Given the description of an element on the screen output the (x, y) to click on. 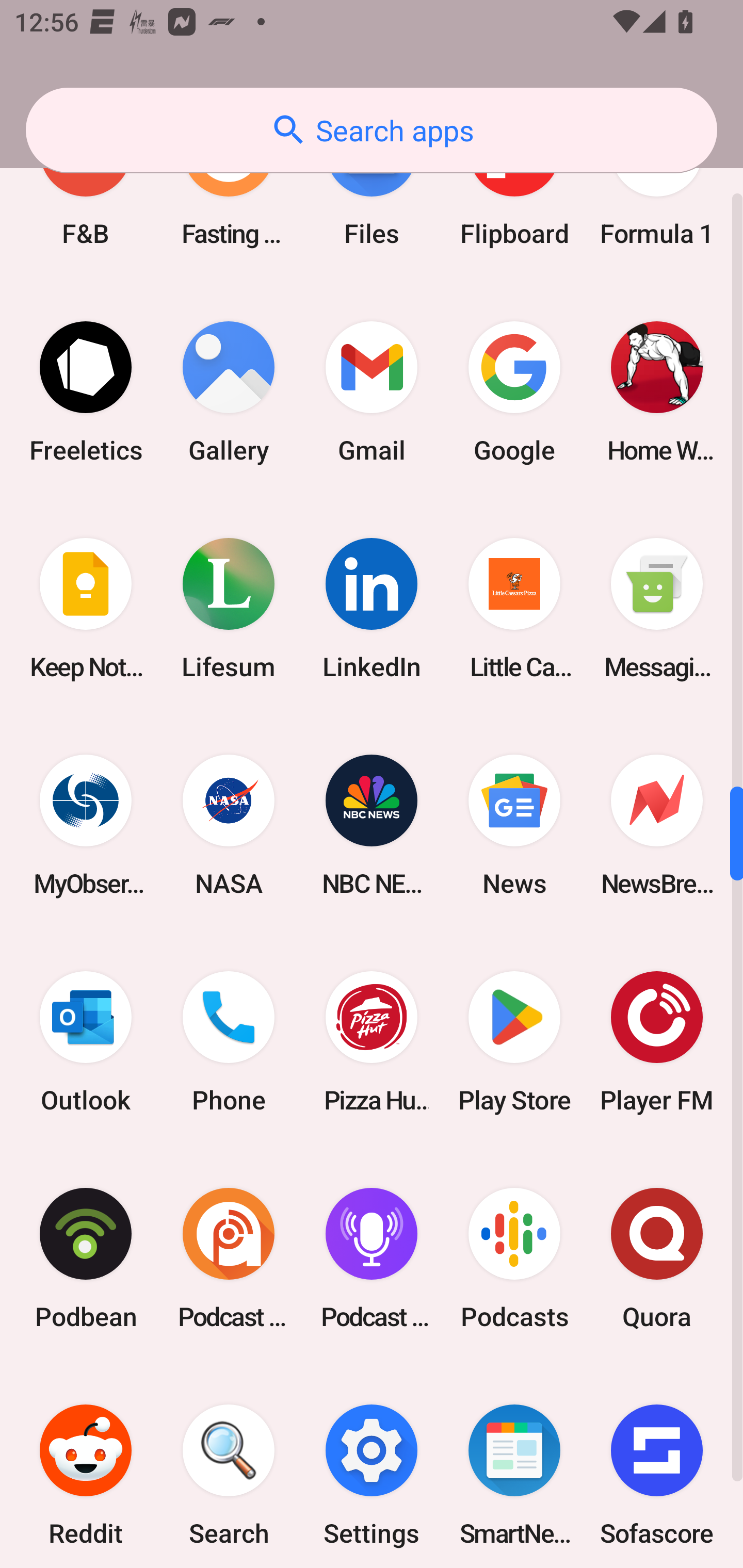
  Search apps (371, 130)
Freeletics (85, 391)
Gallery (228, 391)
Gmail (371, 391)
Google (514, 391)
Home Workout (656, 391)
Keep Notes (85, 608)
Lifesum (228, 608)
LinkedIn (371, 608)
Little Caesars Pizza (514, 608)
Messaging (656, 608)
MyObservatory (85, 824)
NASA (228, 824)
NBC NEWS (371, 824)
News (514, 824)
NewsBreak (656, 824)
Outlook (85, 1041)
Phone (228, 1041)
Pizza Hut HK & Macau (371, 1041)
Play Store (514, 1041)
Player FM (656, 1041)
Podbean (85, 1258)
Podcast Addict (228, 1258)
Podcast Player (371, 1258)
Podcasts (514, 1258)
Quora (656, 1258)
Reddit (85, 1467)
Search (228, 1467)
Settings (371, 1467)
SmartNews (514, 1467)
Sofascore (656, 1467)
